Given the description of an element on the screen output the (x, y) to click on. 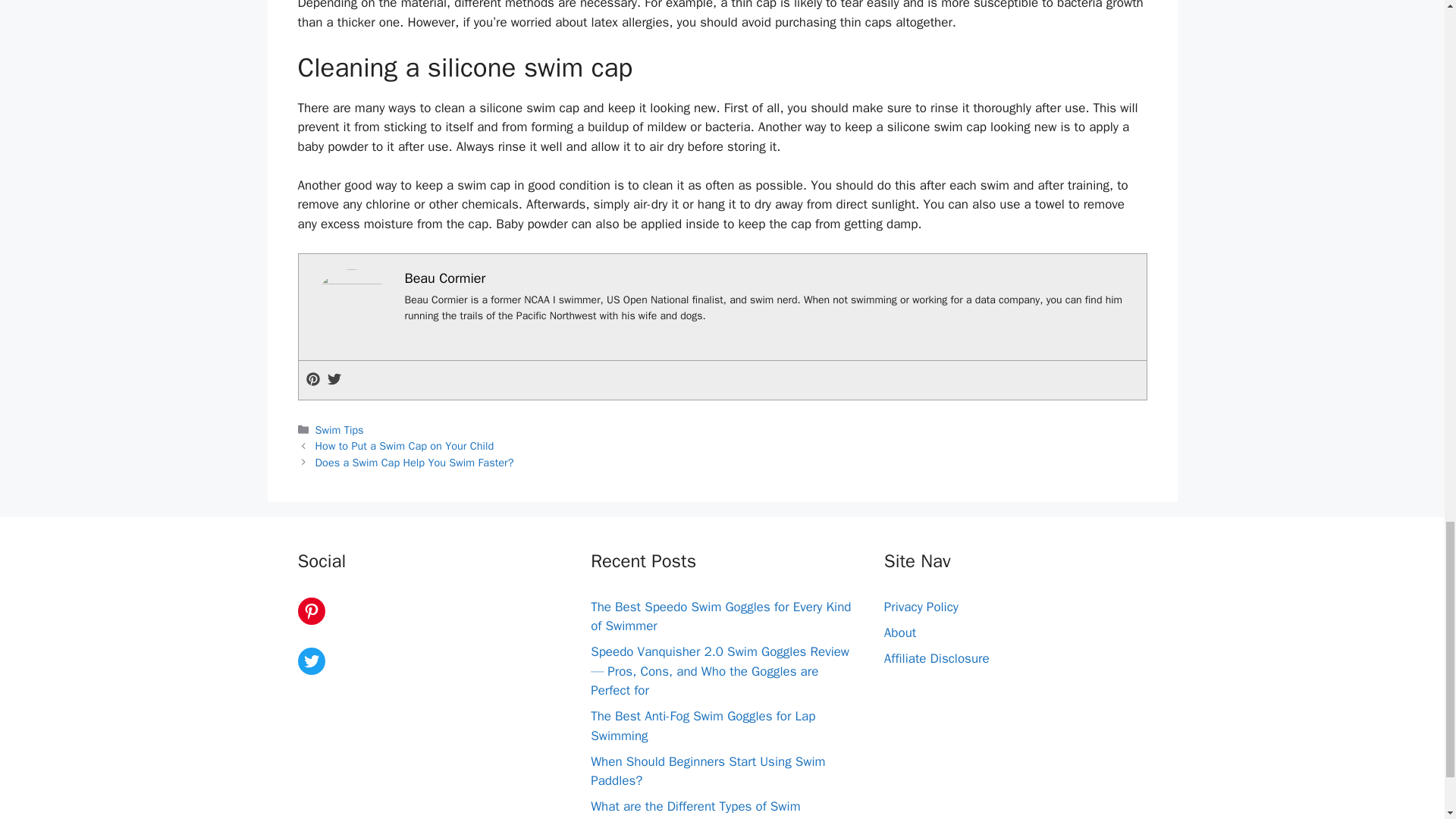
Affiliate Disclosure (936, 658)
About (899, 632)
The Best Anti-Fog Swim Goggles for Lap Swimming (703, 725)
Pinterest (310, 610)
When Should Beginners Start Using Swim Paddles? (708, 771)
Privacy Policy (920, 606)
Does a Swim Cap Help You Swim Faster? (414, 462)
What are the Different Types of Swim Paddles? (695, 808)
Twitter (310, 660)
How to Put a Swim Cap on Your Child (405, 445)
